Given the description of an element on the screen output the (x, y) to click on. 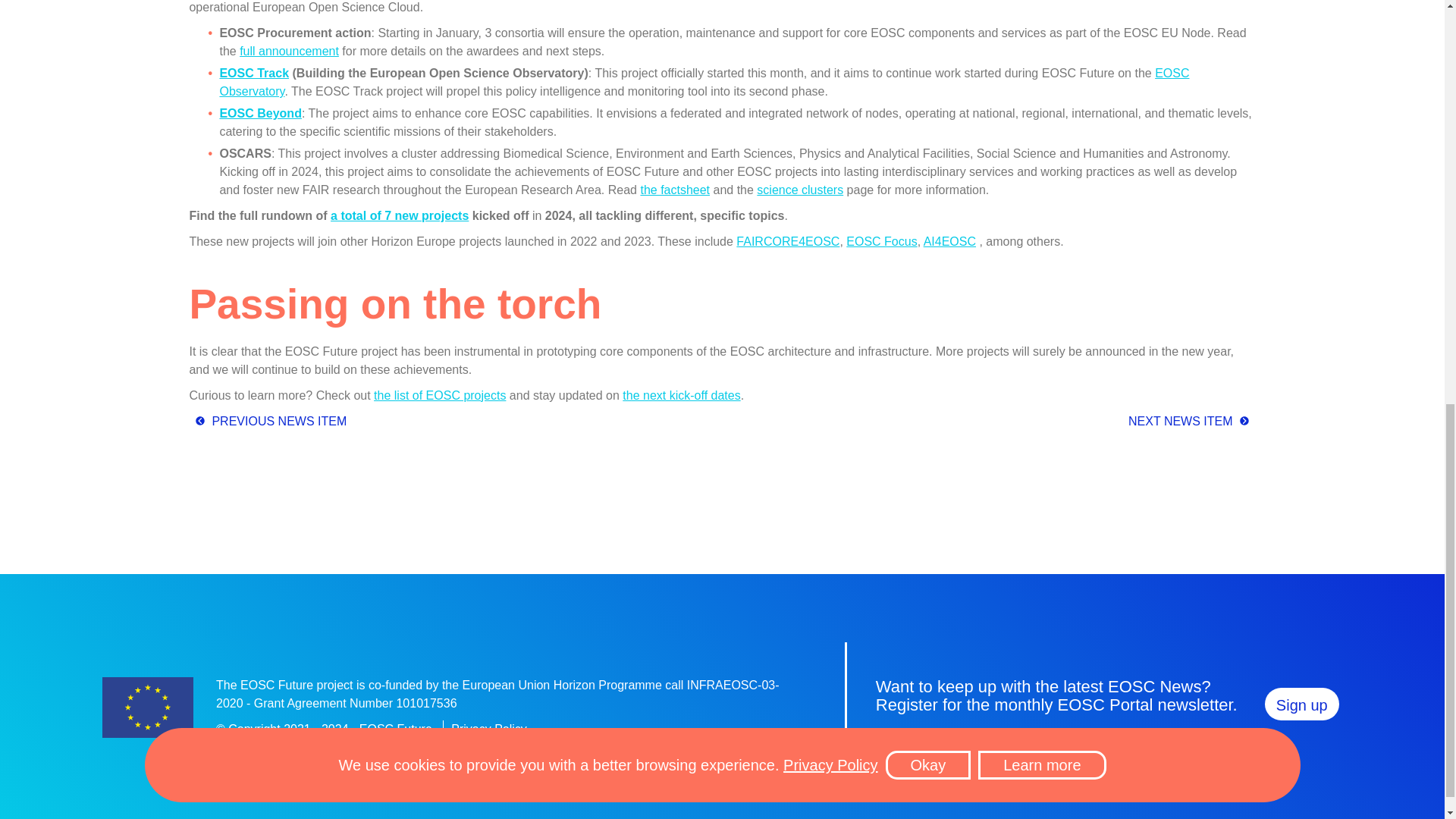
the list of EOSC projects (439, 395)
the next kick-off dates (681, 395)
FAIRCORE4EOSC (788, 241)
EOSC Observatory (704, 81)
a total of 7 new projects (399, 215)
the factsheet (675, 189)
EOSC Track (253, 72)
AI4EOSC (949, 241)
EOSC Beyond (260, 113)
EOSC Focus (881, 241)
full announcement (289, 51)
Sign up to the newsletter (1302, 703)
science clusters (800, 189)
